Given the description of an element on the screen output the (x, y) to click on. 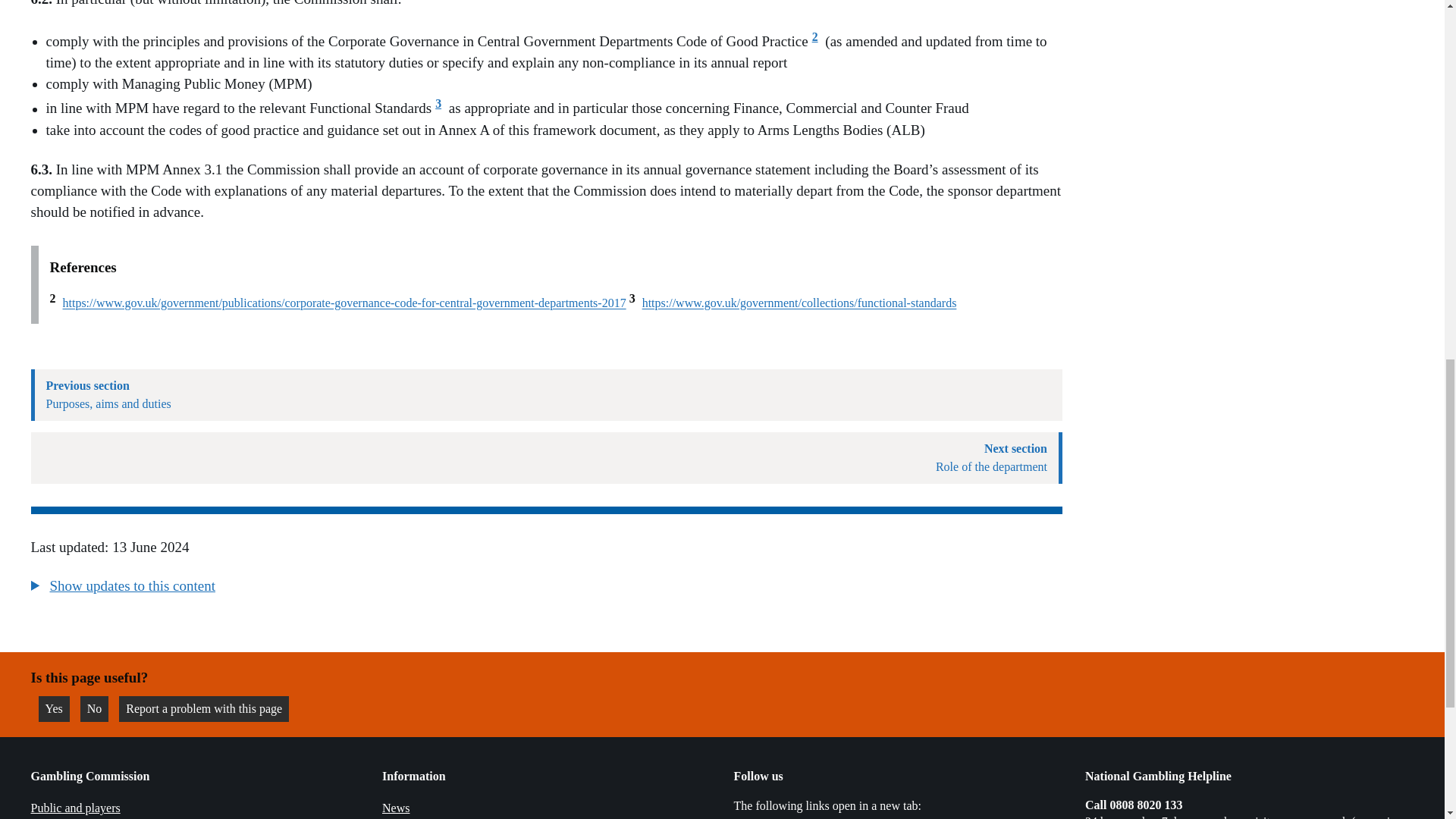
Link opens in a new tab (1240, 816)
